Given the description of an element on the screen output the (x, y) to click on. 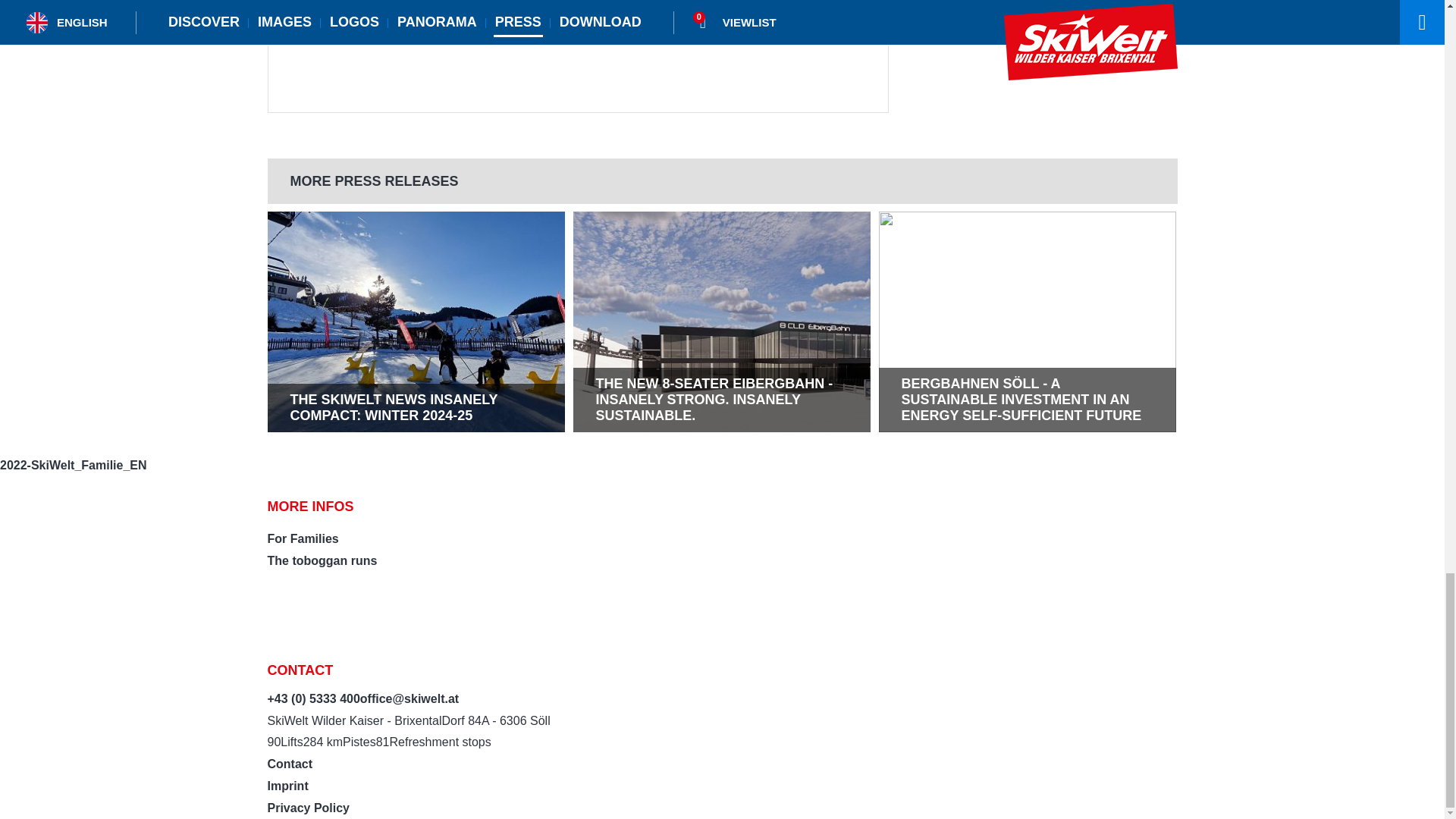
THE SKIWELT NEWS INSANELY COMPACT: WINTER 2024-25 (415, 408)
www.skiwelt.at (343, 5)
www.skiwelt.at (343, 5)
